Given the description of an element on the screen output the (x, y) to click on. 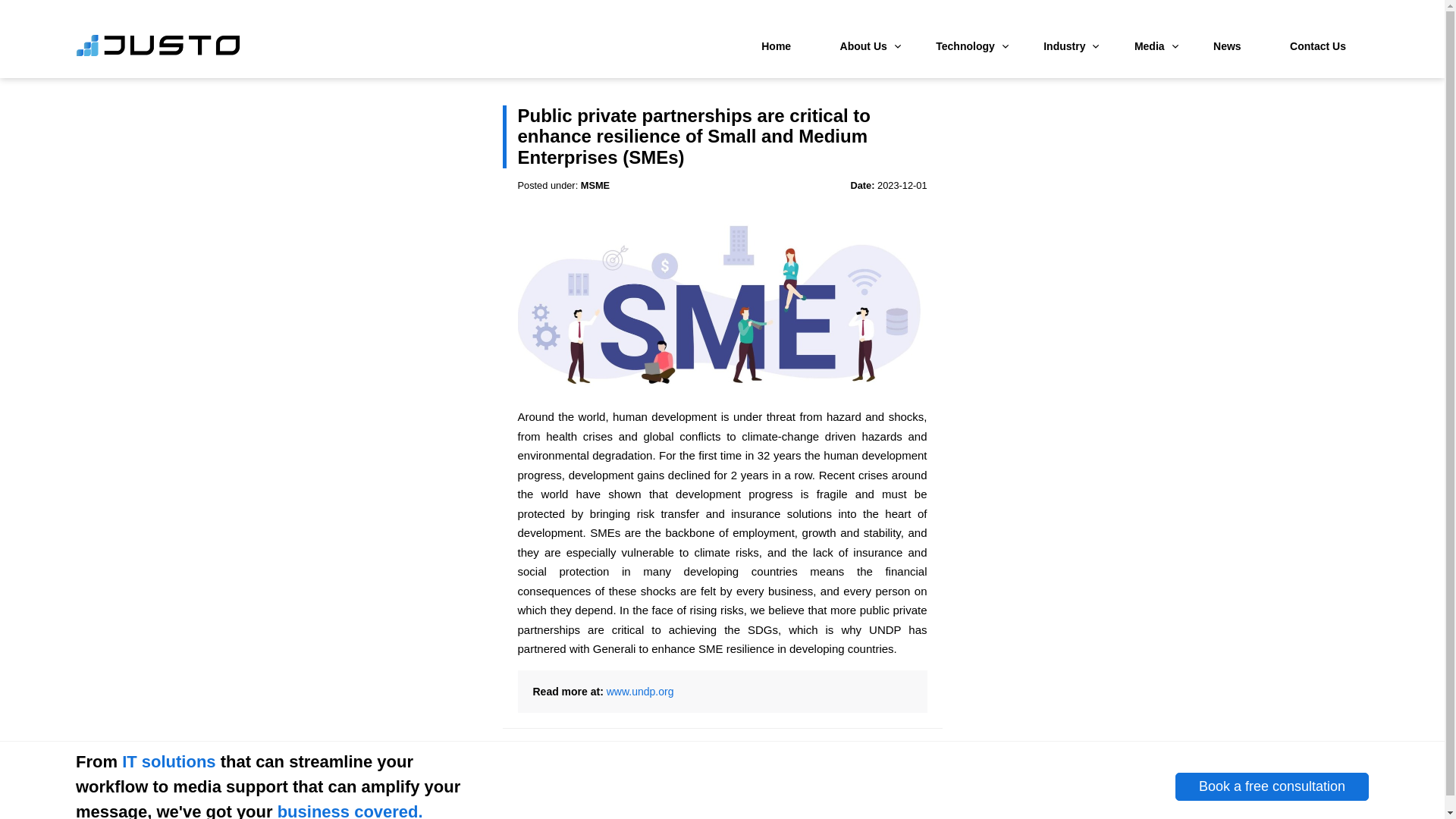
Home (775, 45)
Justo (158, 53)
Contact Us (1318, 45)
Book a free consultation (1271, 786)
Technology (965, 45)
Industry (1064, 45)
About Us (863, 45)
Media (1149, 45)
News (1227, 45)
www.undp.org (640, 691)
